Given the description of an element on the screen output the (x, y) to click on. 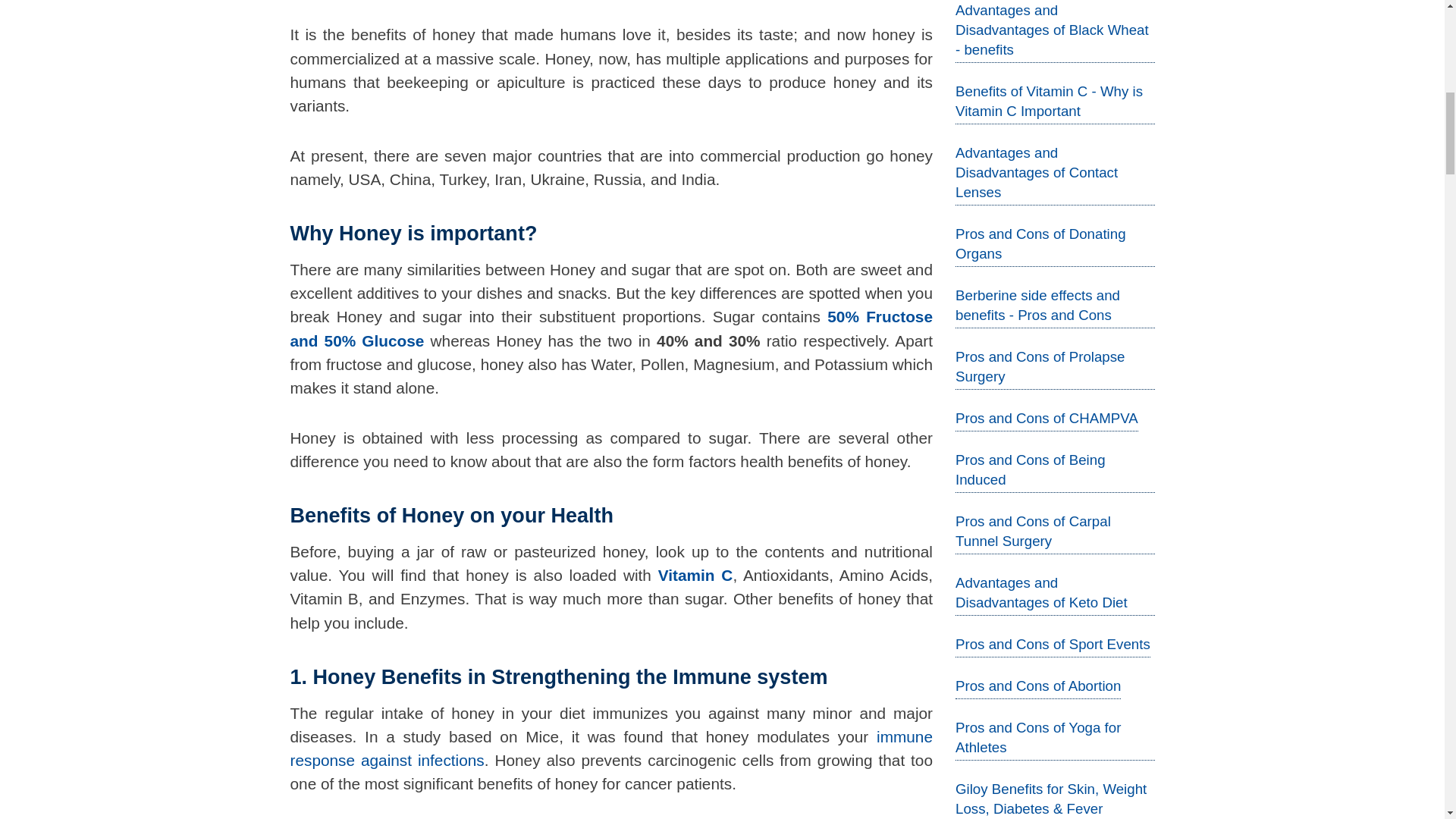
Benefits and risks of Vitamin C (695, 574)
Pros and Cons of Donating Organs (1040, 243)
Pros and Cons of Sport Events (1052, 643)
Pros and Cons of Prolapse Surgery (1040, 366)
Pros and Cons of Abortion (1038, 685)
Advantages and Disadvantages of Black Wheat - benefits (1051, 29)
Vitamin C (695, 574)
Pros and Cons of Yoga for Athletes (1038, 737)
Contents of honey to sugar (611, 327)
Pros and Cons of Carpal Tunnel Surgery (1032, 530)
